Given the description of an element on the screen output the (x, y) to click on. 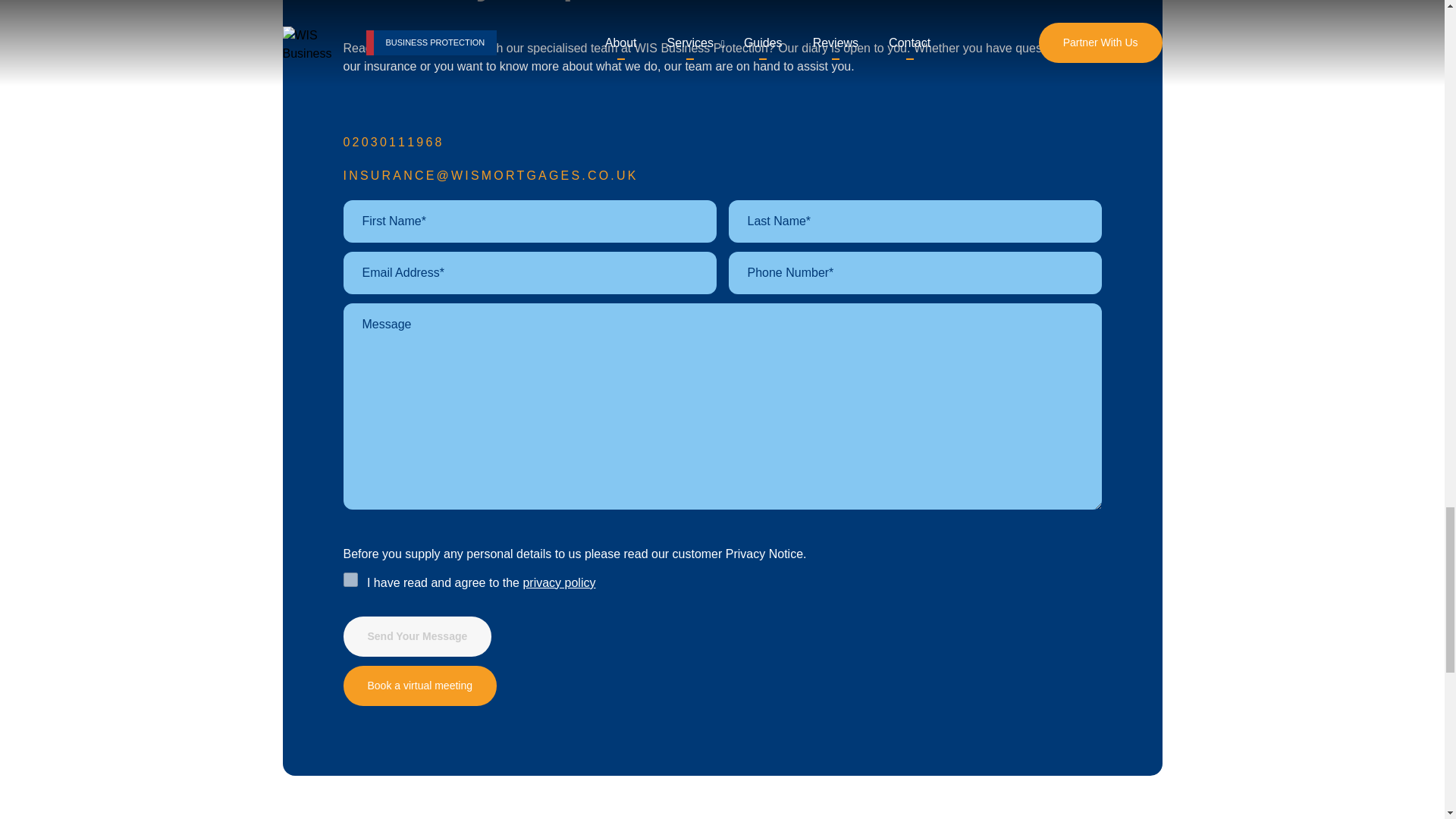
privacy policy (558, 582)
Send Your Message (417, 635)
Send Your Message (417, 635)
1 (349, 578)
